Given the description of an element on the screen output the (x, y) to click on. 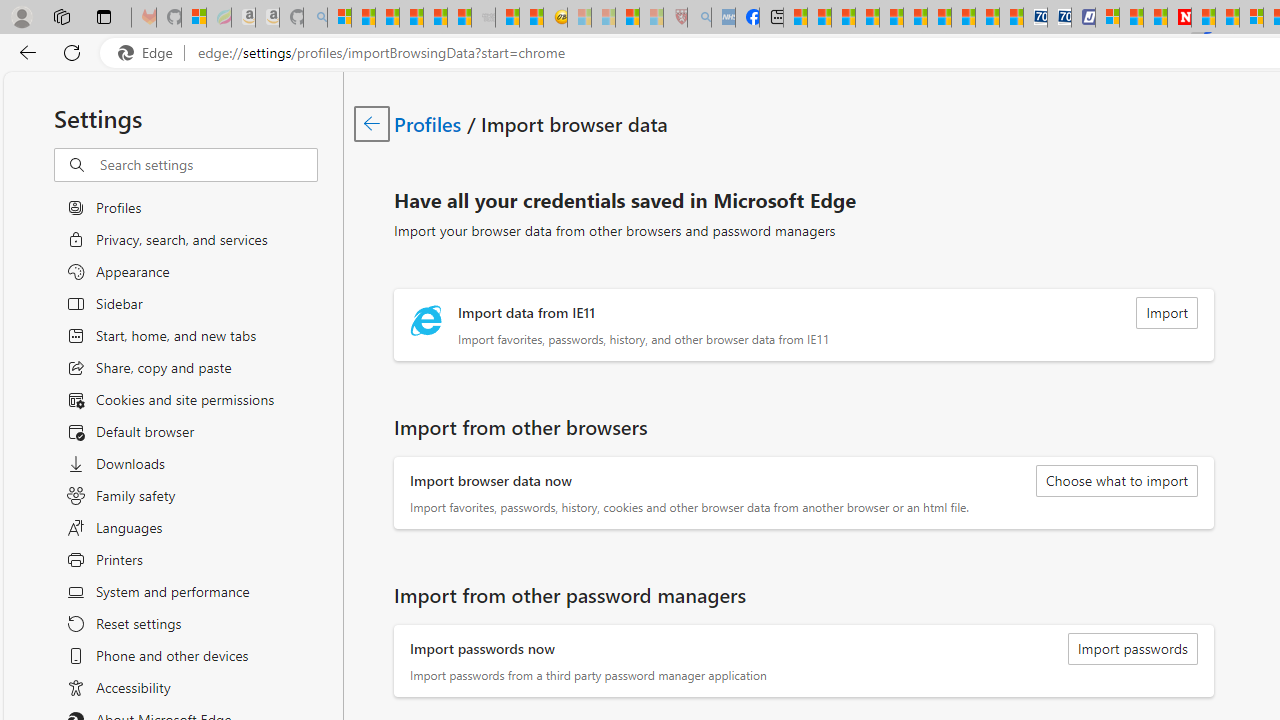
The Weather Channel - MSN (387, 17)
Class: c01179 (371, 123)
Go back to Profiles page. (372, 123)
New Report Confirms 2023 Was Record Hot | Watch (434, 17)
Choose what to import (1116, 480)
